Given the description of an element on the screen output the (x, y) to click on. 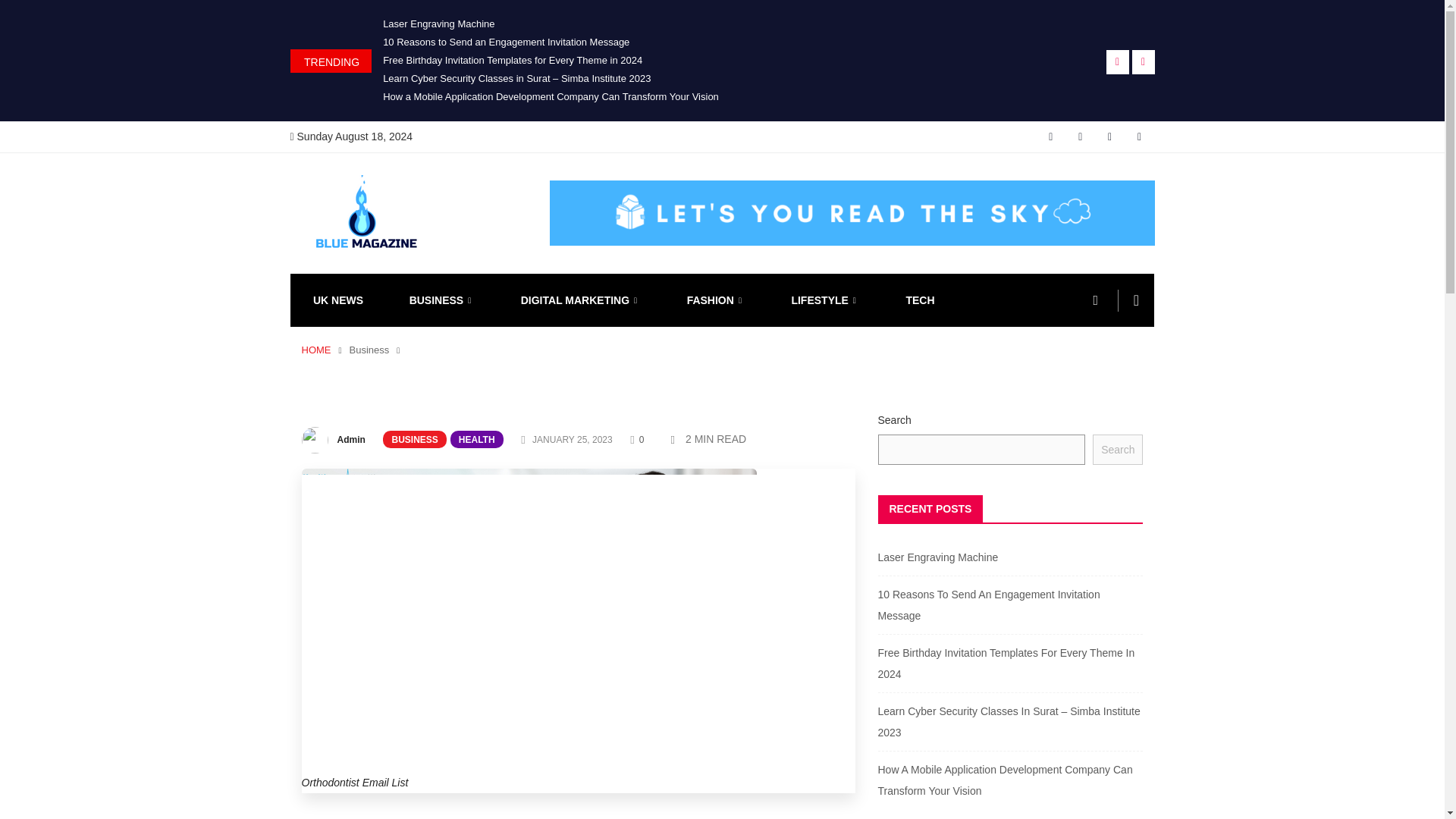
Laser Engraving Machine (438, 23)
LIFESTYLE (825, 299)
HOME (316, 349)
TECH (920, 299)
HEALTH (476, 438)
BUSINESS (441, 299)
DIGITAL MARKETING (580, 299)
BUSINESS (413, 438)
FASHION (715, 299)
10 Reasons to Send an Engagement Invitation Message (505, 41)
